Given the description of an element on the screen output the (x, y) to click on. 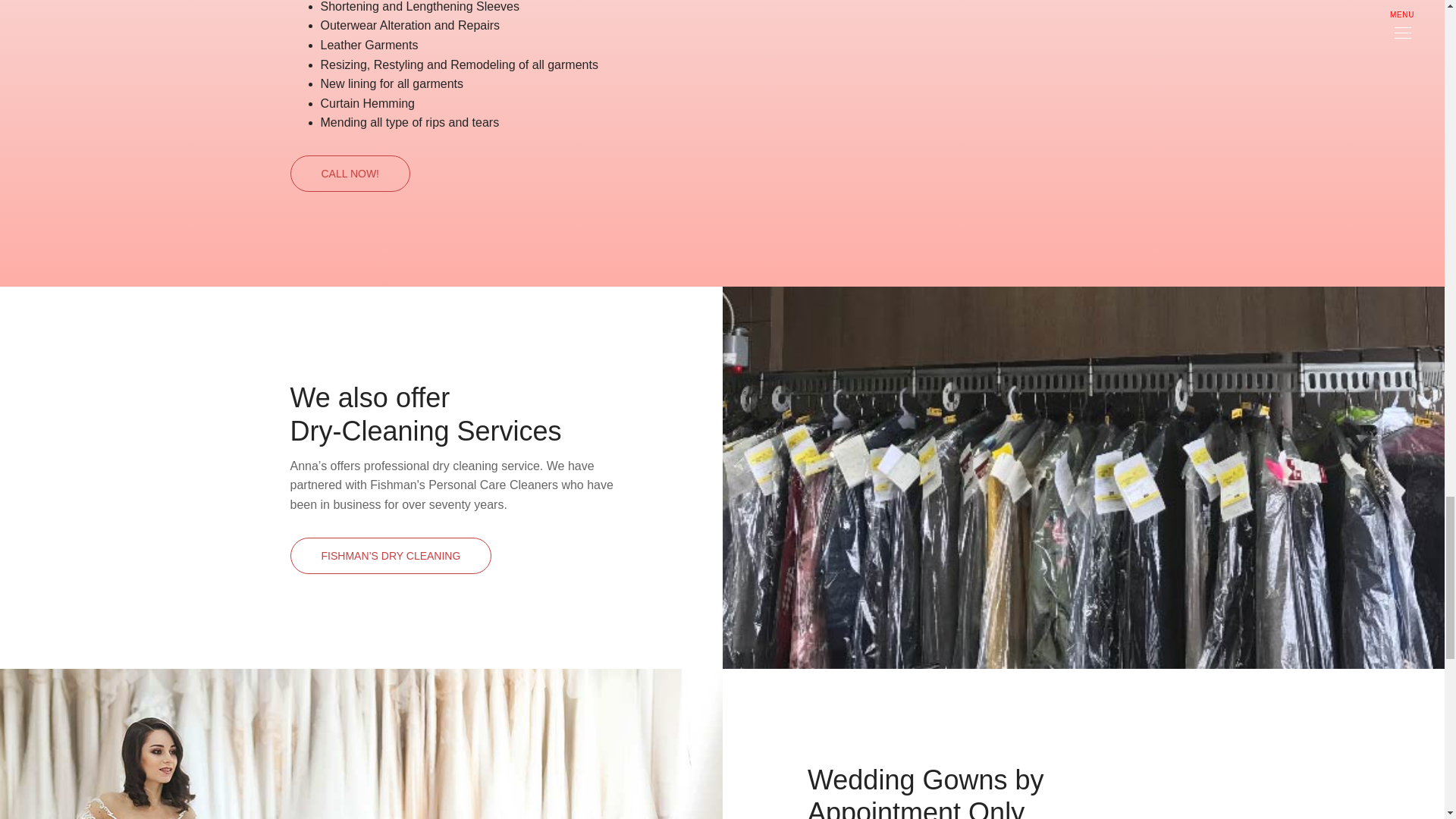
CALL NOW! (349, 173)
